Given the description of an element on the screen output the (x, y) to click on. 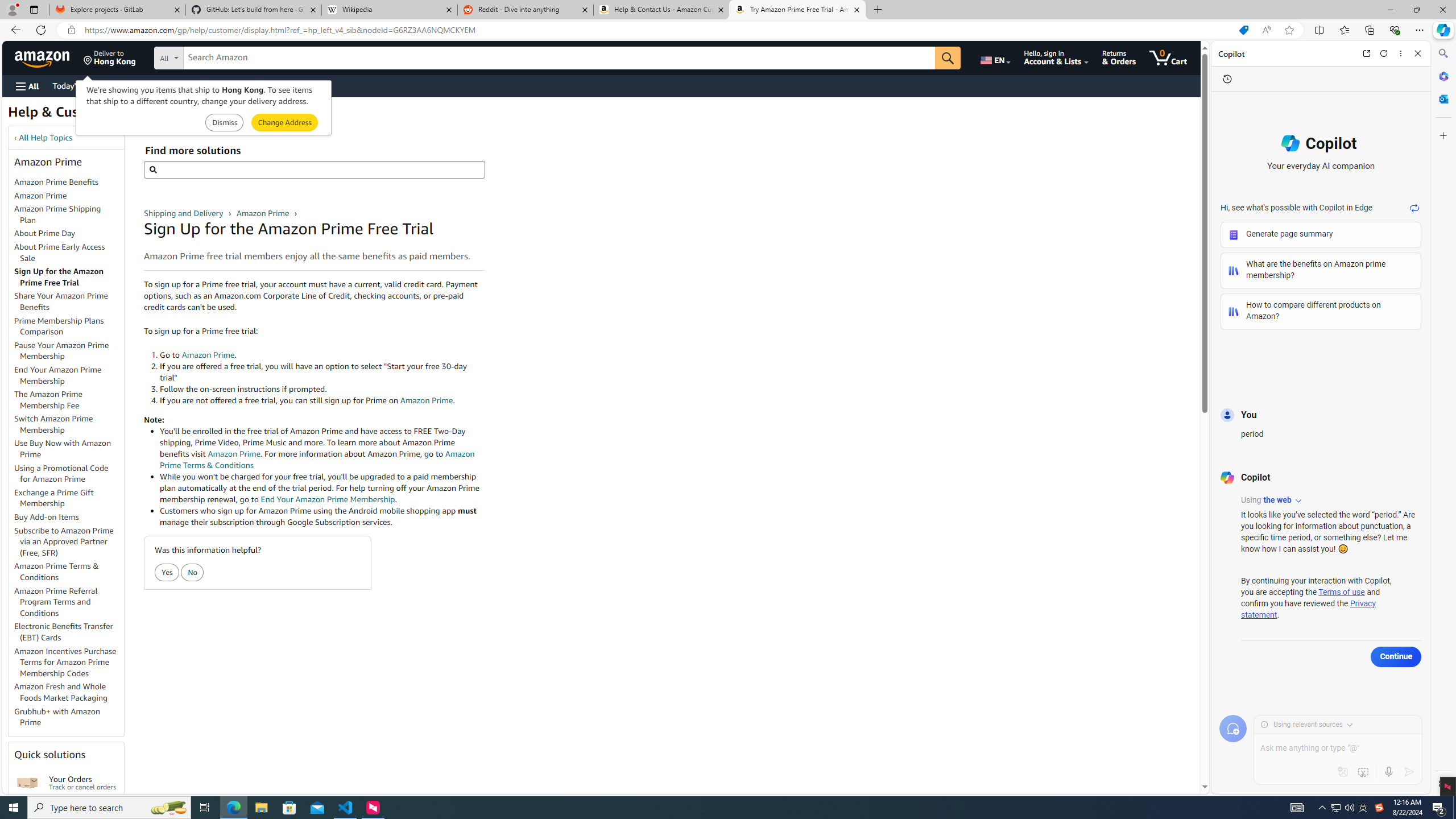
Your Orders Track or cancel orders (82, 782)
Your Orders (27, 782)
Using a Promotional Code for Amazon Prime (68, 473)
Buy Add-on Items (46, 516)
Electronic Benefits Transfer (EBT) Cards (68, 631)
Using a Promotional Code for Amazon Prime (61, 473)
Amazon Prime (68, 196)
Today's Deals (76, 85)
